Given the description of an element on the screen output the (x, y) to click on. 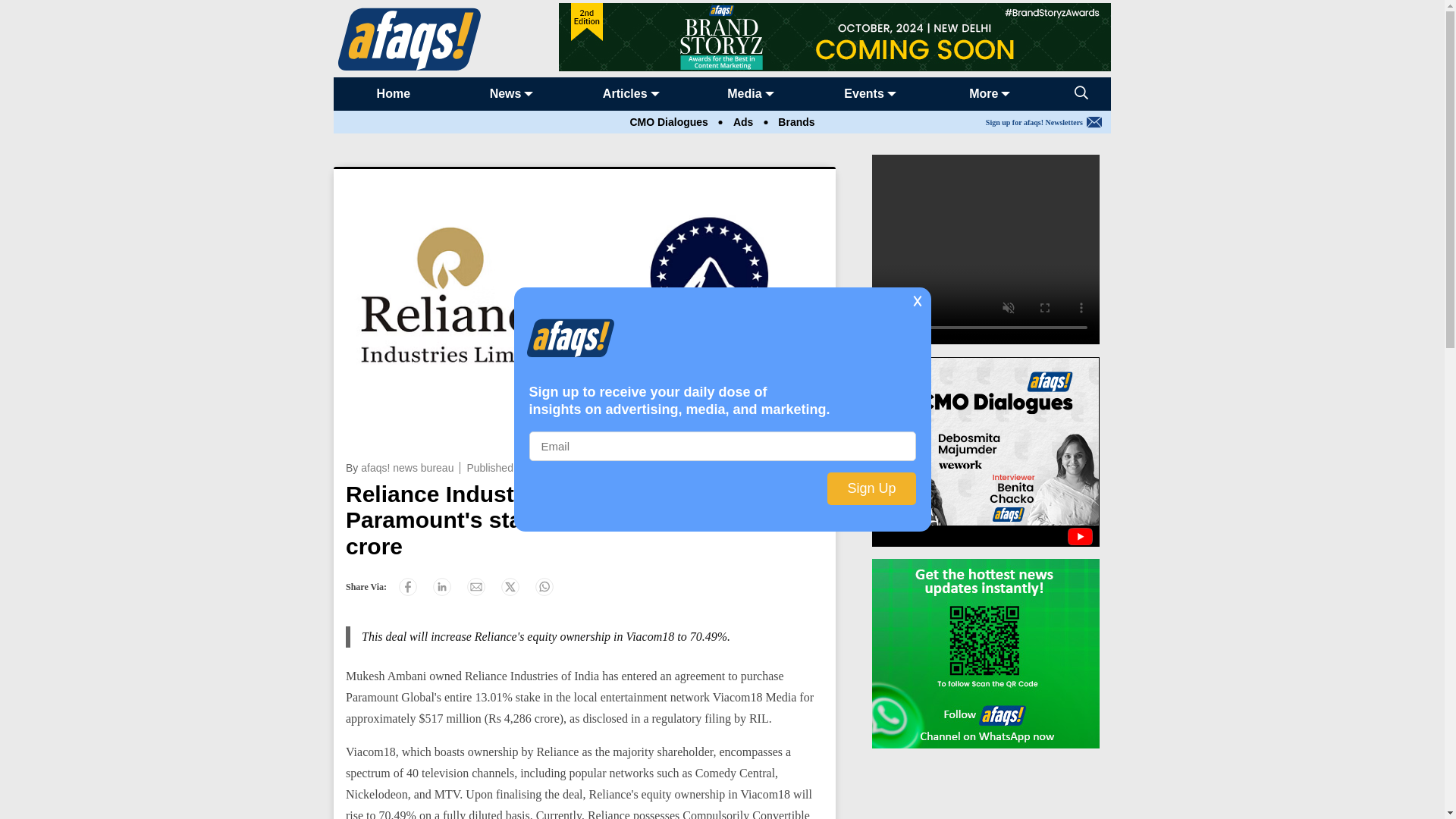
Events (863, 93)
Media (743, 93)
Home (393, 93)
News (505, 93)
Articles (624, 93)
